Given the description of an element on the screen output the (x, y) to click on. 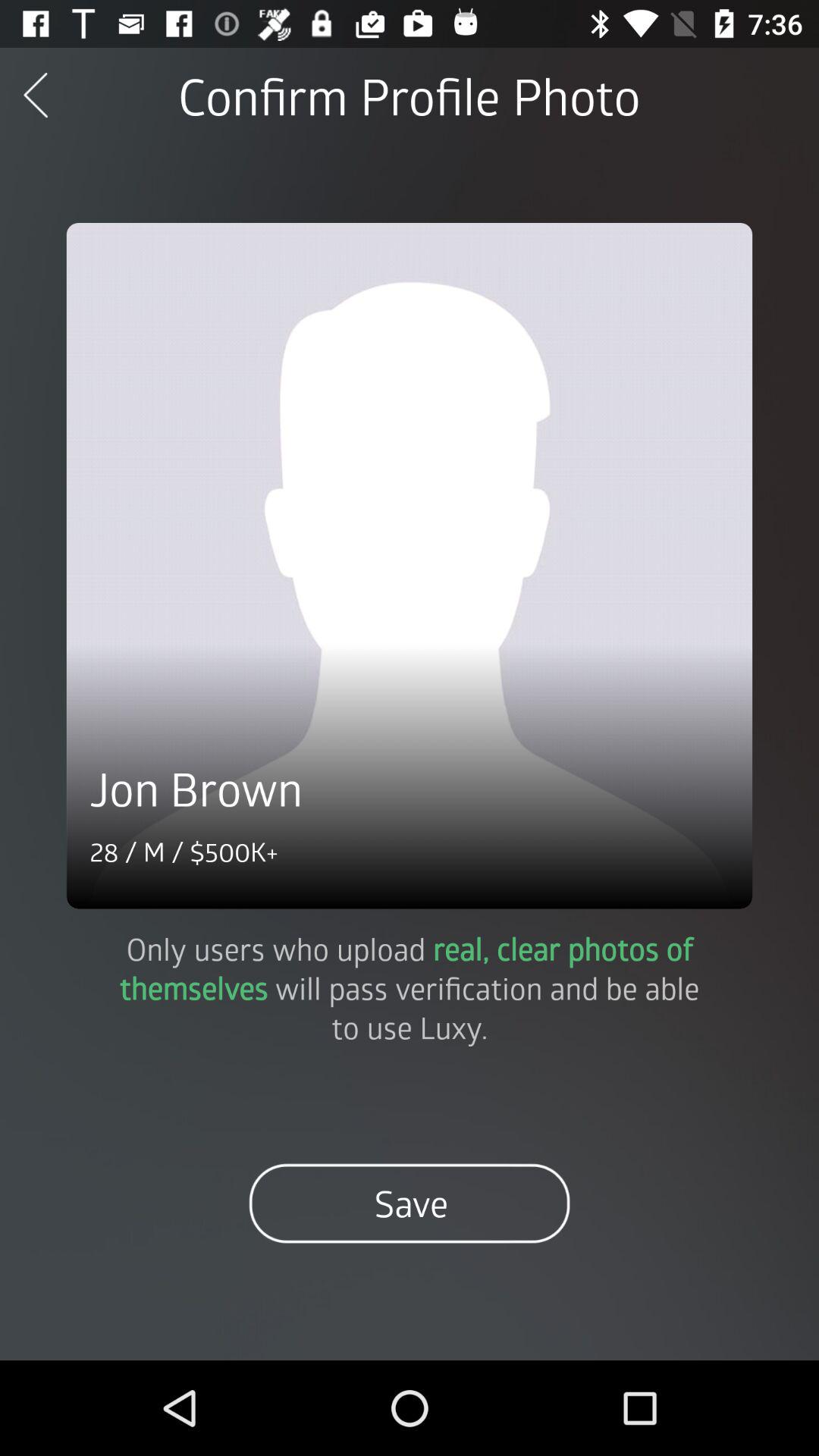
choose only users who icon (409, 987)
